Given the description of an element on the screen output the (x, y) to click on. 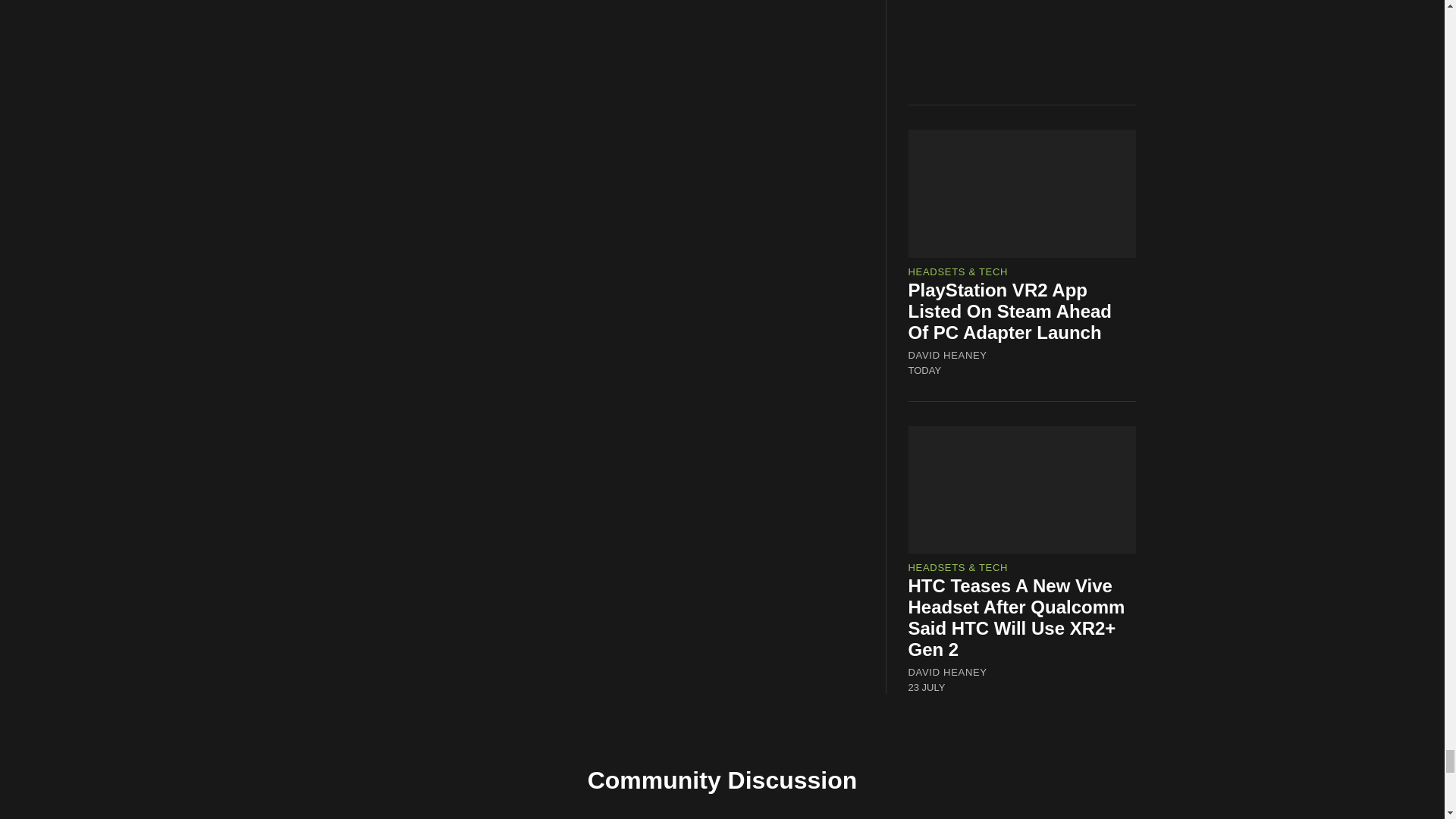
DAVID HEANEY (947, 354)
DAVID HEANEY (947, 672)
